Given the description of an element on the screen output the (x, y) to click on. 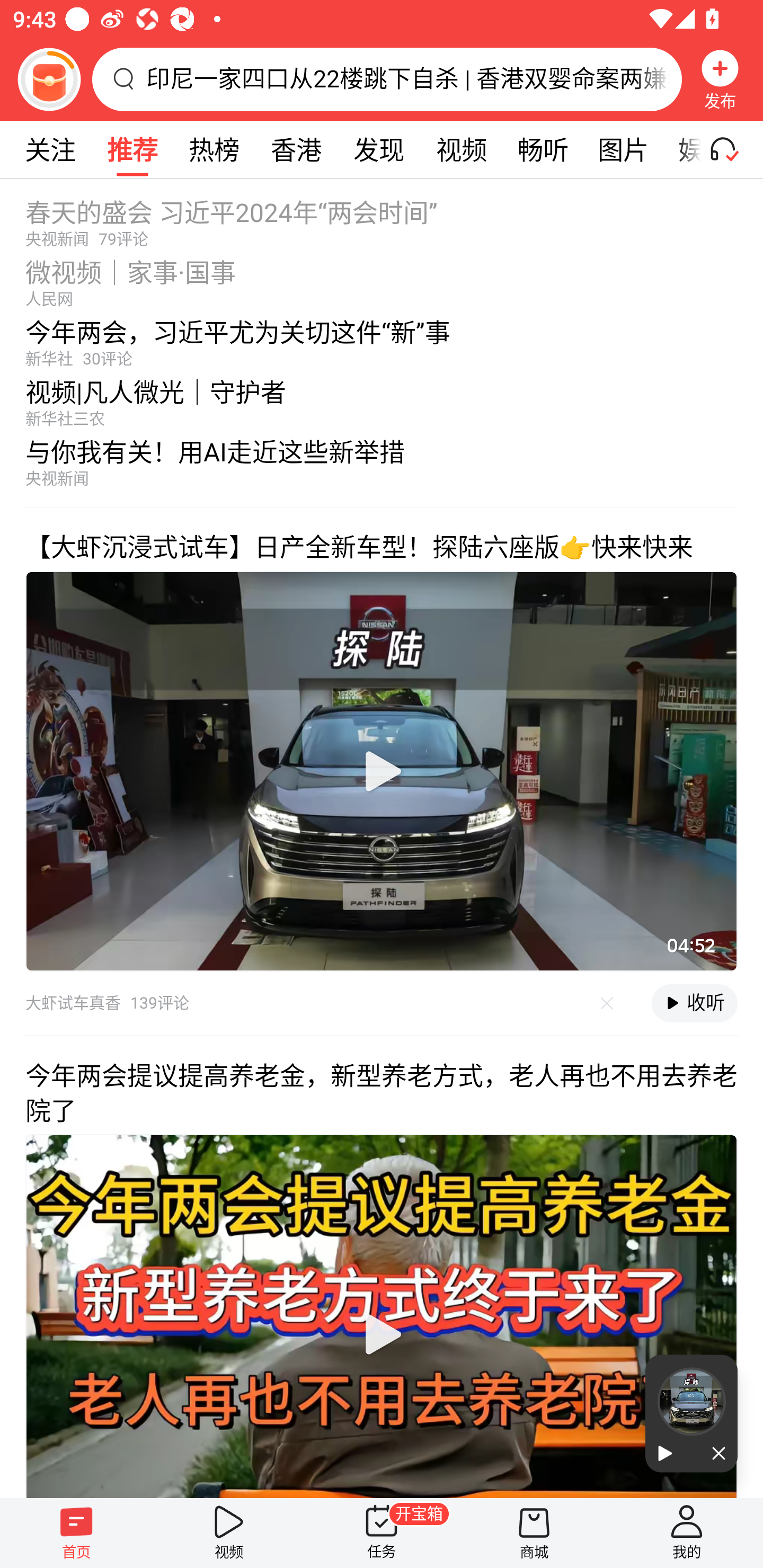
阅读赚金币 (48, 79)
发布 发布，按钮 (720, 78)
关注 (50, 149)
推荐 (132, 149)
热榜 (213, 149)
香港 (295, 149)
发现 (378, 149)
视频 (461, 149)
畅听 (542, 149)
图片 (623, 149)
听一听开关 (732, 149)
微视频｜家事·国事人民网 视频 微视频｜家事·国事 人民网 (381, 277)
视频|凡人微光｜守护者新华社三农 文章 视频|凡人微光｜守护者 新华社三农 (381, 398)
与你我有关！用AI走近这些新举措央视新闻 文章 与你我有关！用AI走近这些新举措 央视新闻 (381, 467)
播放视频 视频播放器，双击屏幕打开播放控制 (381, 771)
播放视频 (381, 771)
收听 (694, 1003)
不感兴趣 (607, 1003)
播放视频 视频播放器，双击屏幕打开播放控制 (381, 1315)
播放视频 (381, 1334)
当前进度 0% 播放 关闭 (691, 1413)
播放 (668, 1454)
关闭 (714, 1454)
首页 (76, 1532)
视频 (228, 1532)
任务 开宝箱 (381, 1532)
商城 (533, 1532)
我的 (686, 1532)
